Given the description of an element on the screen output the (x, y) to click on. 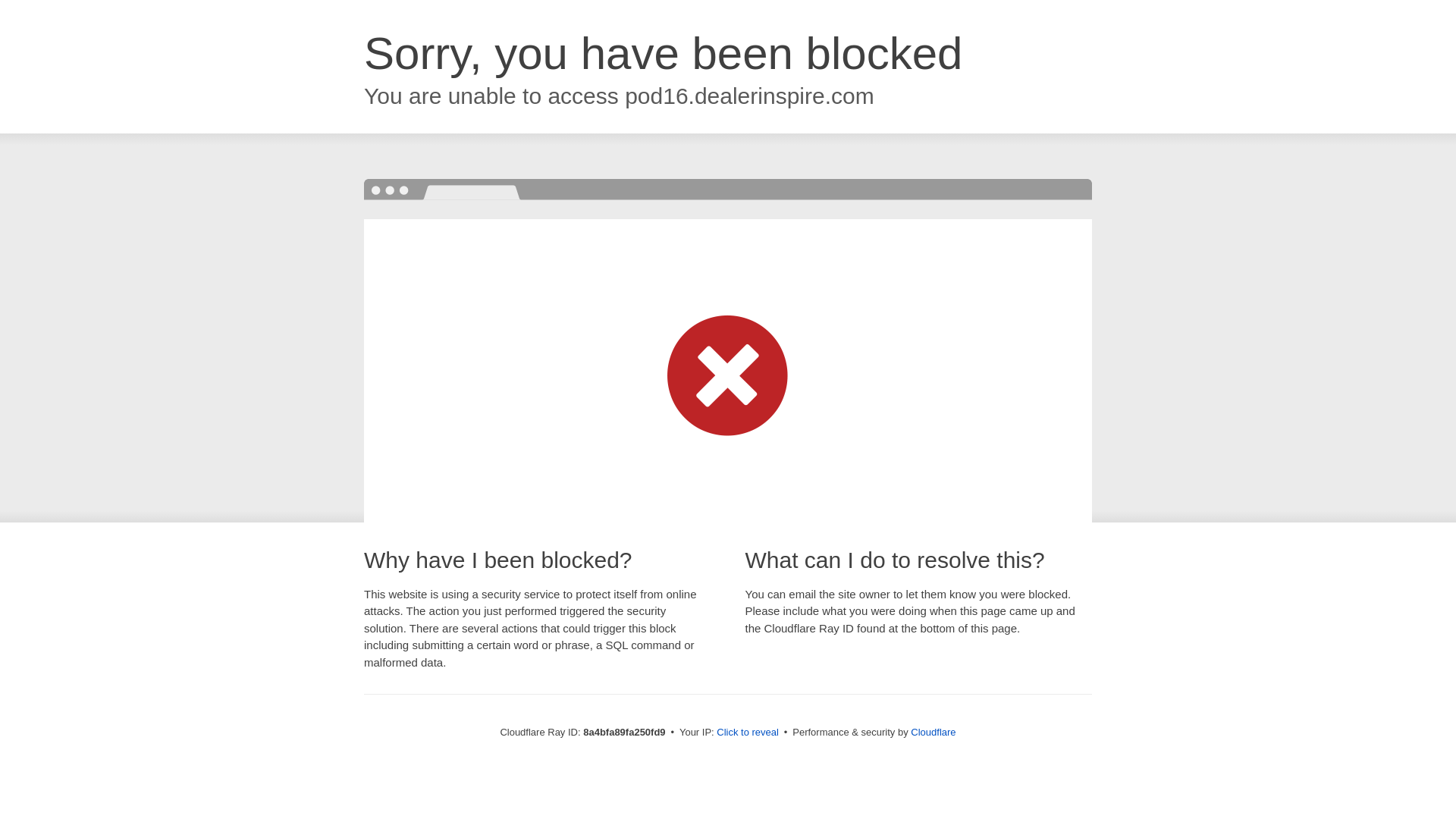
Cloudflare (933, 731)
Click to reveal (747, 732)
